Given the description of an element on the screen output the (x, y) to click on. 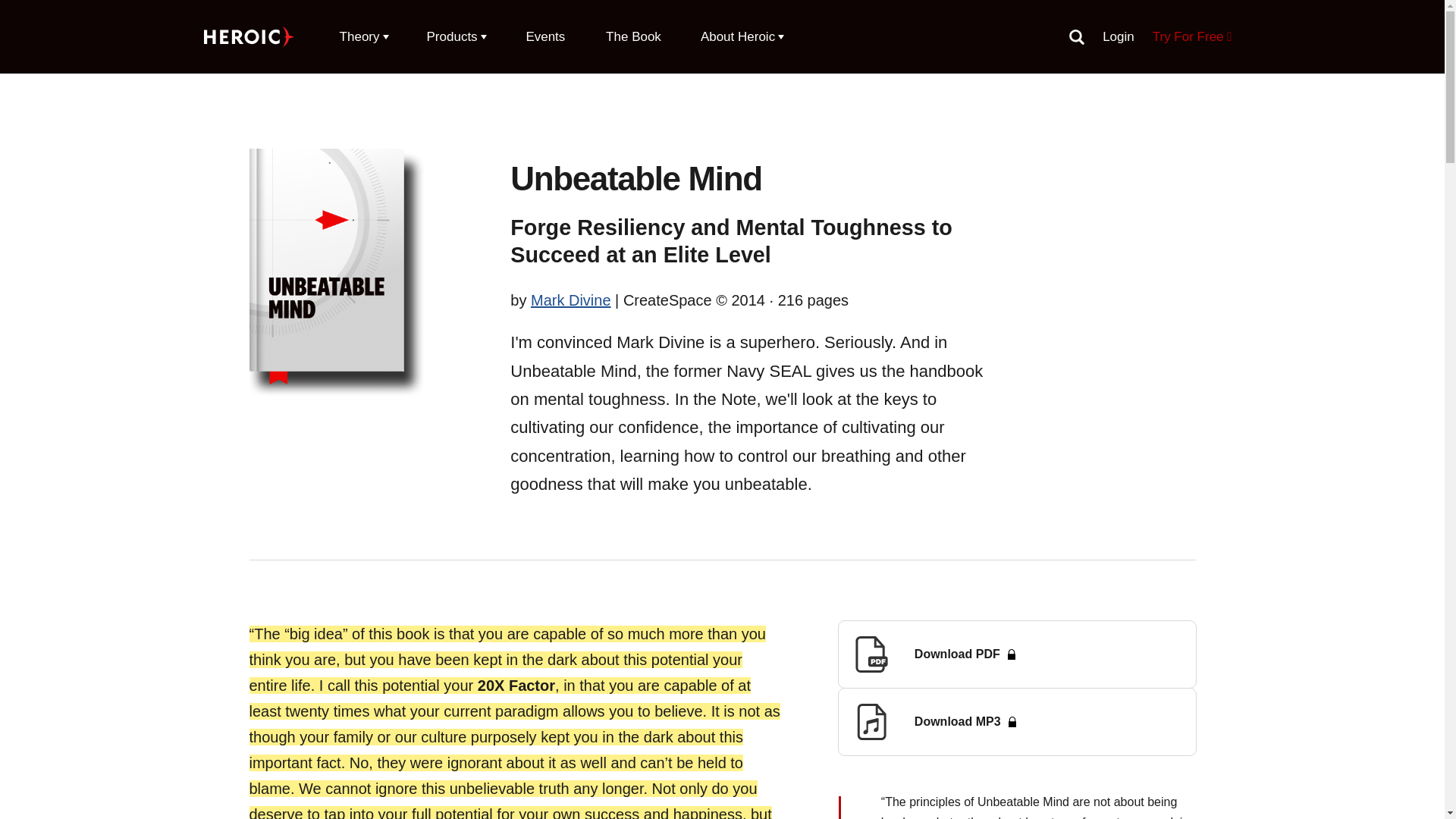
The Book (632, 36)
Events (544, 36)
Search (1076, 37)
